Given the description of an element on the screen output the (x, y) to click on. 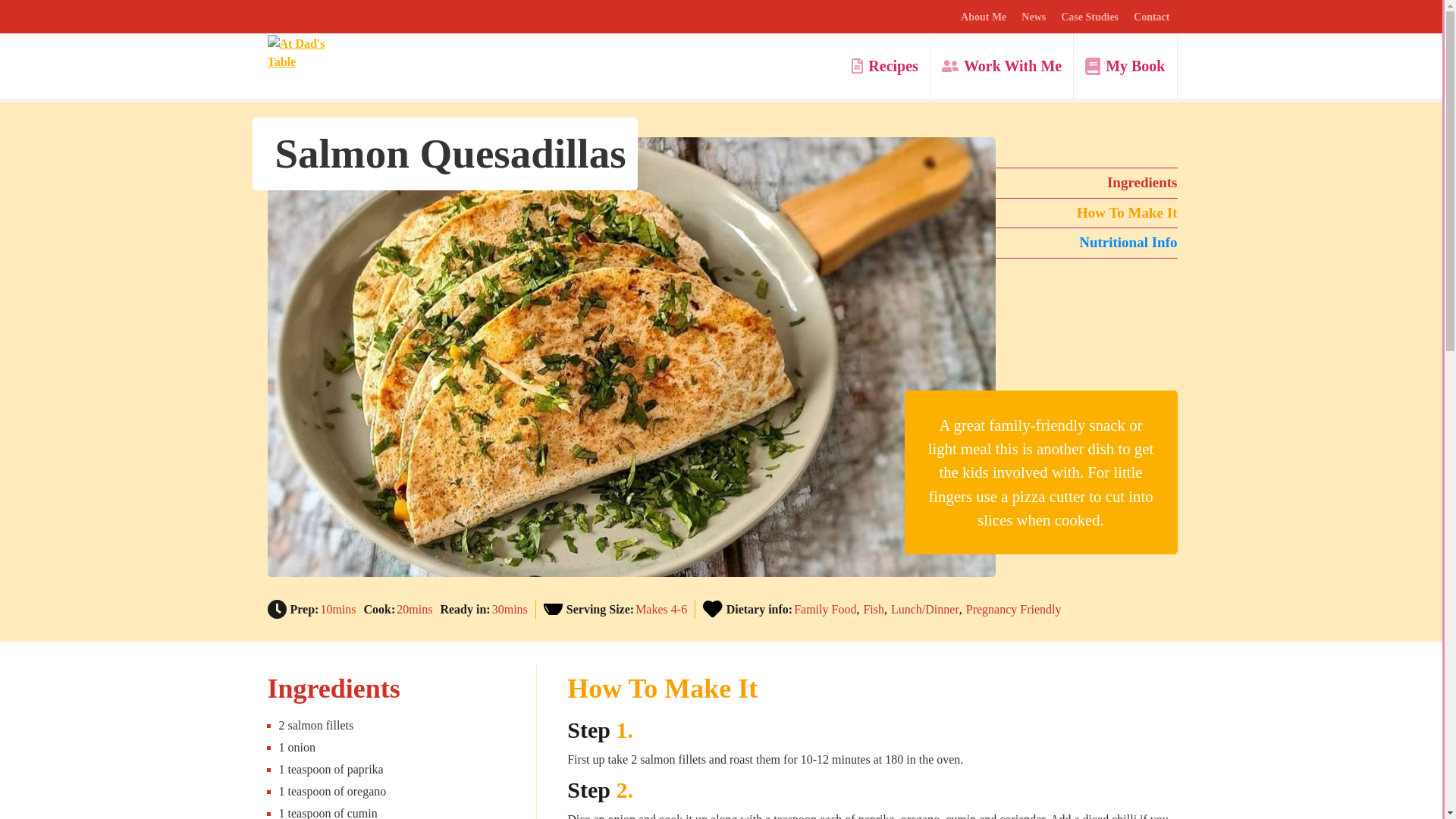
Family Food (828, 609)
Fish (877, 609)
Ingredients (1085, 183)
My Book (1125, 65)
Contact (1151, 16)
How To Make It (1085, 214)
Nutritional Info (1085, 243)
News (1033, 16)
About Me (983, 16)
Work With Me (1001, 65)
Recipes (884, 65)
Case Studies (1089, 16)
Pregnancy Friendly (1013, 609)
